Given the description of an element on the screen output the (x, y) to click on. 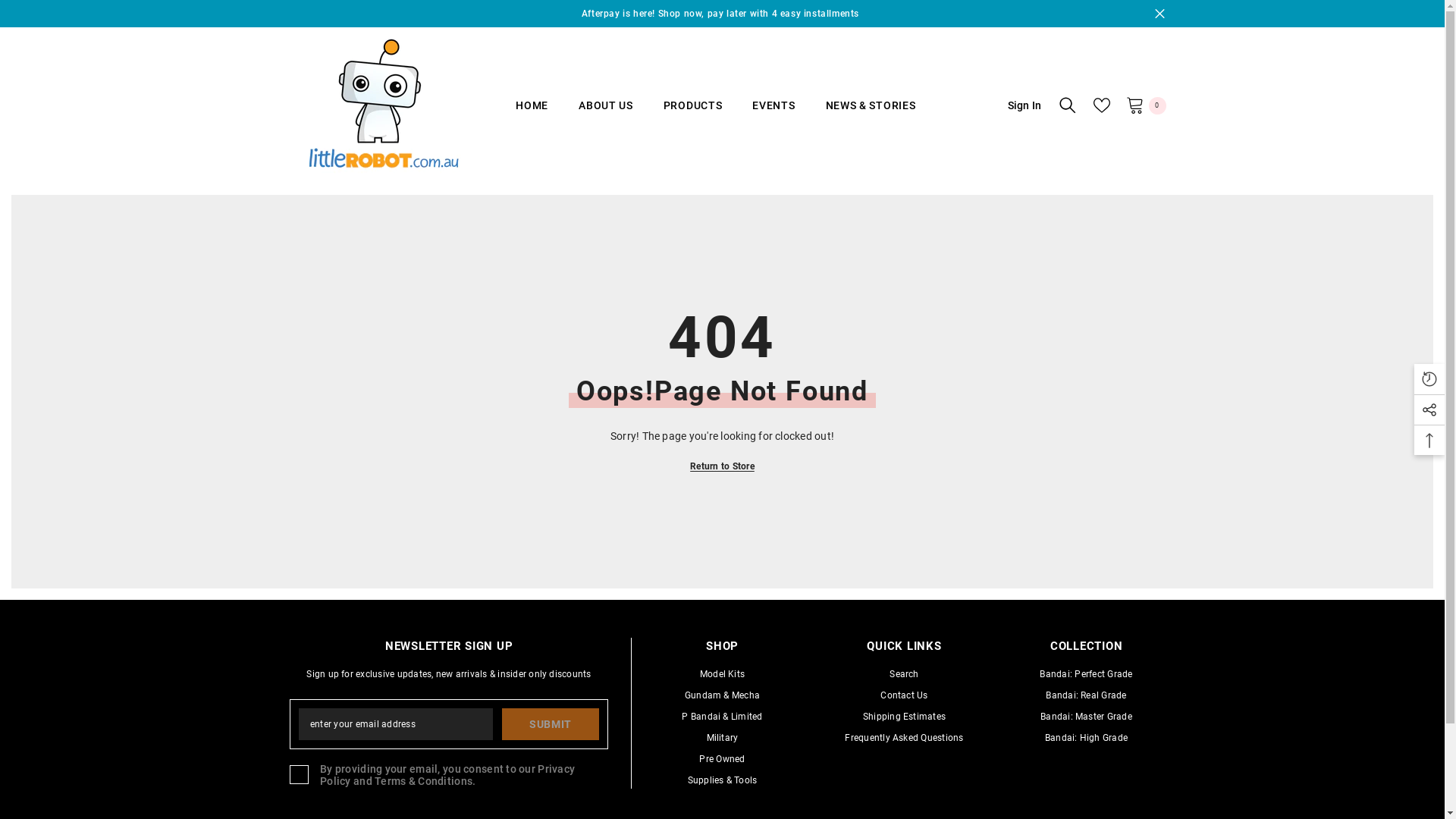
HOME Element type: text (531, 115)
SUBMIT Element type: text (550, 723)
Shipping Estimates Element type: text (903, 716)
PRODUCTS Element type: text (692, 115)
Pre Owned Element type: text (721, 758)
Frequently Asked Questions Element type: text (903, 737)
Cart
0
0 items Element type: text (1145, 105)
Model Kits Element type: text (721, 673)
Supplies & Tools Element type: text (722, 779)
Contact Us Element type: text (903, 695)
Gundam & Mecha Element type: text (721, 695)
EVENTS Element type: text (773, 115)
Bandai: High Grade Element type: text (1085, 737)
NEWS & STORIES Element type: text (870, 115)
ABOUT US Element type: text (605, 115)
Search Element type: text (903, 673)
Bandai: Real Grade Element type: text (1085, 695)
Close Element type: text (1158, 13)
Sign In Element type: text (1014, 105)
Return to Store Element type: text (722, 466)
Bandai: Perfect Grade Element type: text (1085, 673)
Bandai: Master Grade Element type: text (1086, 716)
Military Element type: text (722, 737)
P Bandai & Limited Element type: text (721, 716)
